Given the description of an element on the screen output the (x, y) to click on. 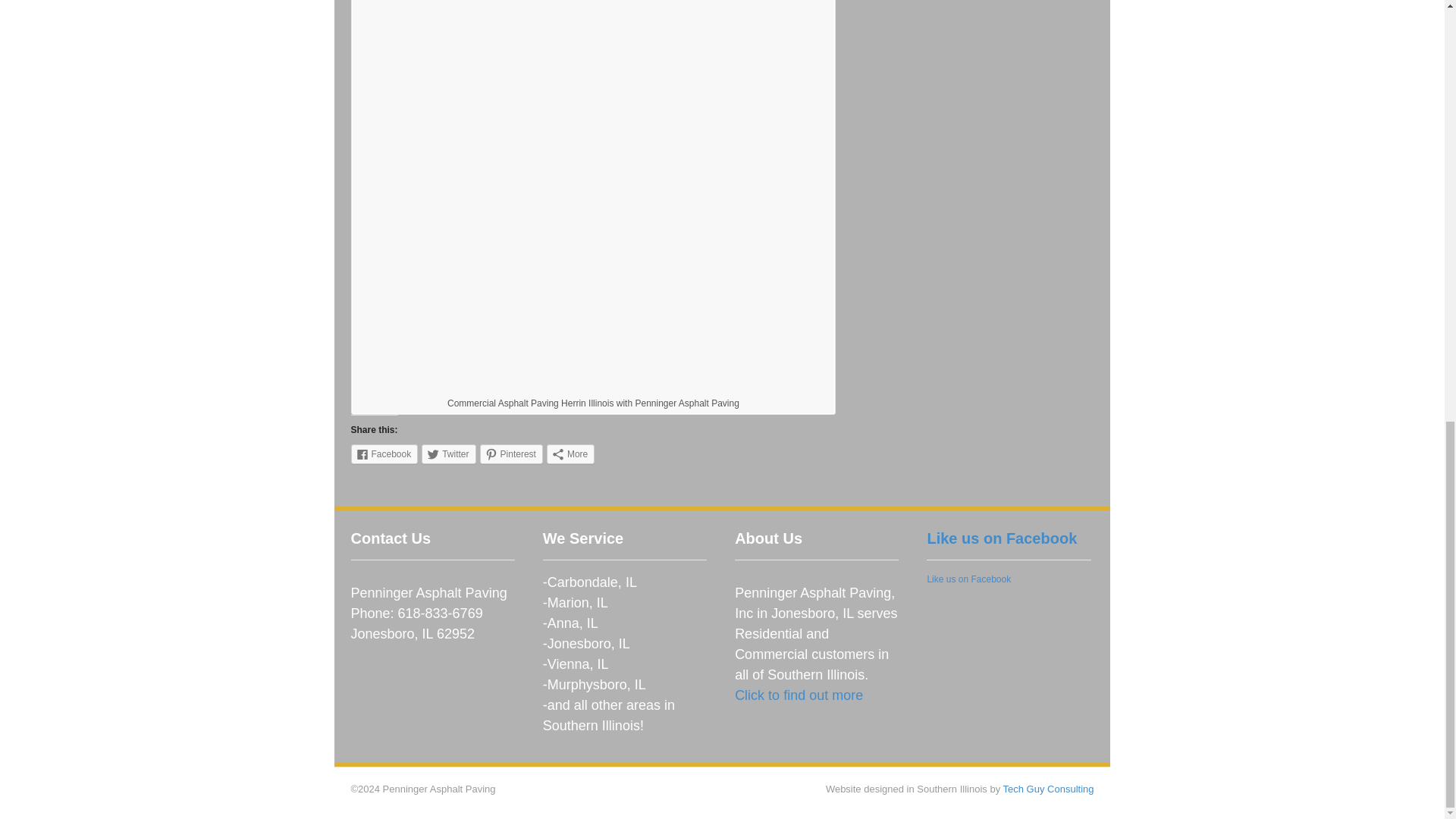
Like us on Facebook (968, 579)
Twitter (449, 454)
Click to share on Twitter (449, 454)
Tech Guy Consulting (1048, 788)
Facebook (383, 454)
Like us on Facebook (1001, 538)
Click to find out more (799, 694)
Pinterest (511, 454)
More (570, 454)
Click to share on Facebook (383, 454)
Click to share on Pinterest (511, 454)
